Given the description of an element on the screen output the (x, y) to click on. 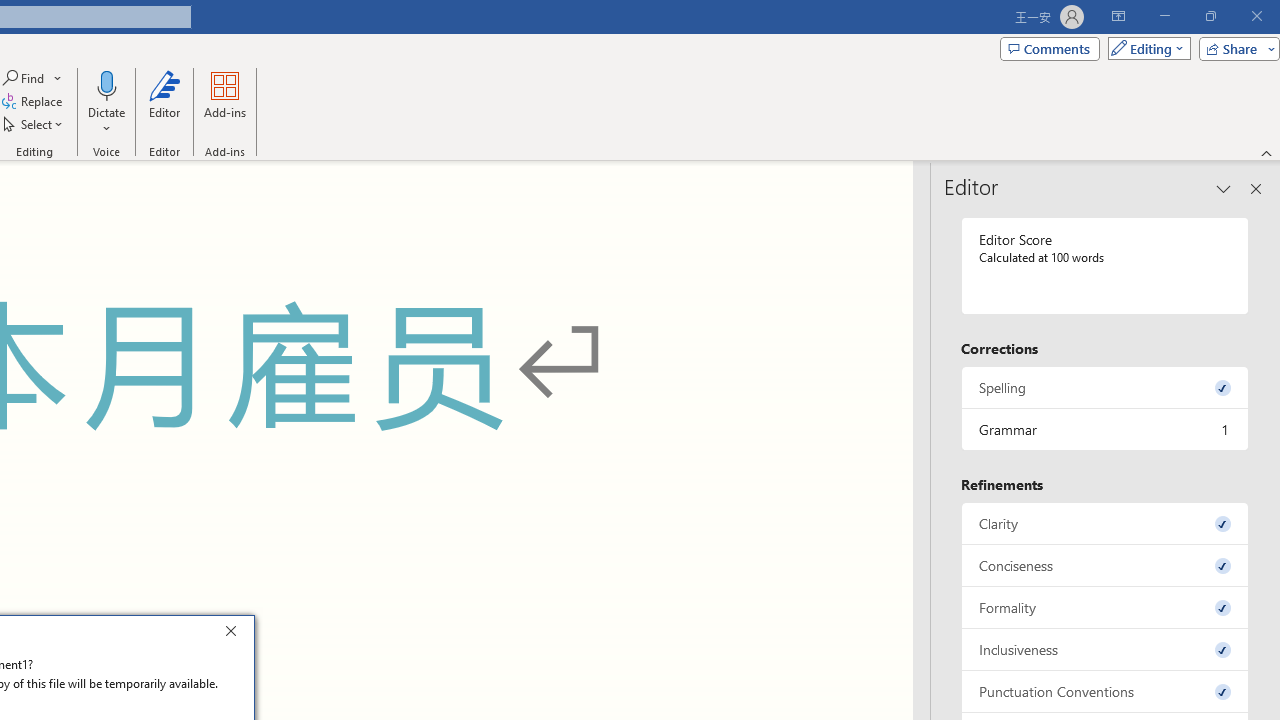
Grammar, 1 issue. Press space or enter to review items. (1105, 429)
Formality, 0 issues. Press space or enter to review items. (1105, 606)
